Given the description of an element on the screen output the (x, y) to click on. 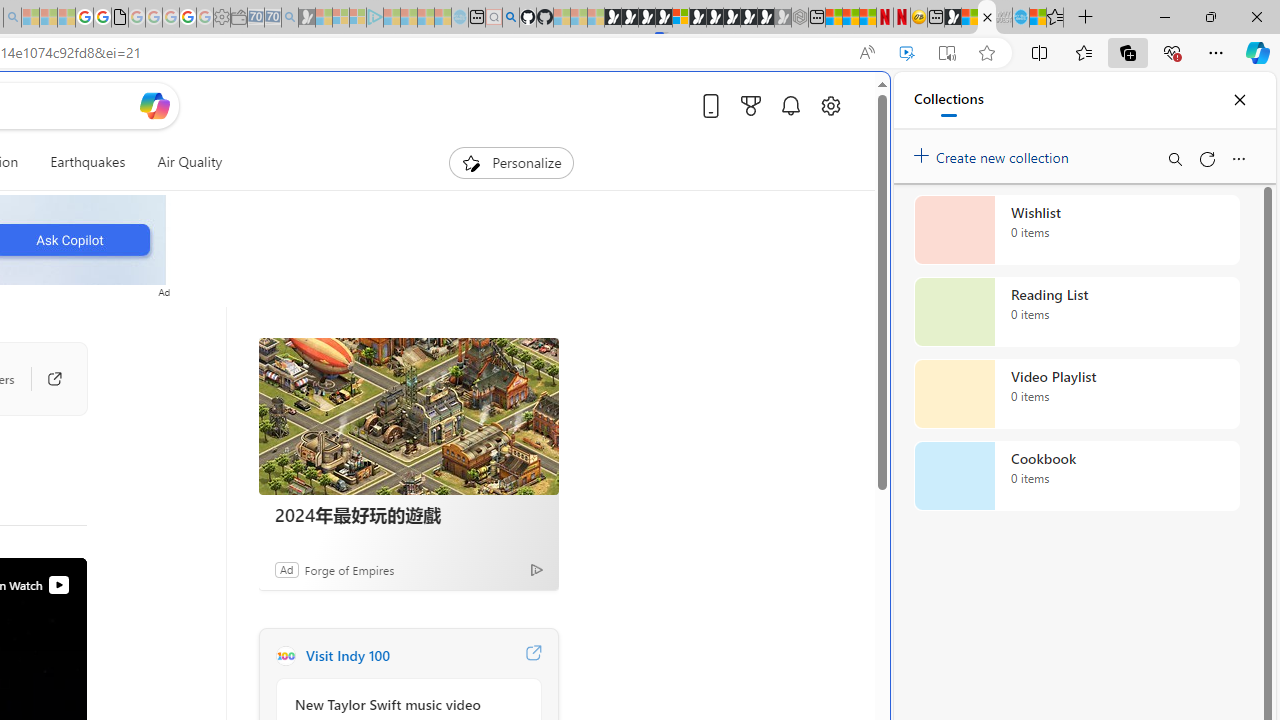
Wishlist collection, 0 items (1076, 229)
Personalize (511, 162)
Play Free Online Games | Games from Microsoft Start (731, 17)
Earthquakes (88, 162)
Create new collection (994, 153)
Close split screen (844, 102)
Enhance video (906, 53)
Cheap Car Rentals - Save70.com - Sleeping (273, 17)
Bing Real Estate - Home sales and rental listings - Sleeping (289, 17)
